Given the description of an element on the screen output the (x, y) to click on. 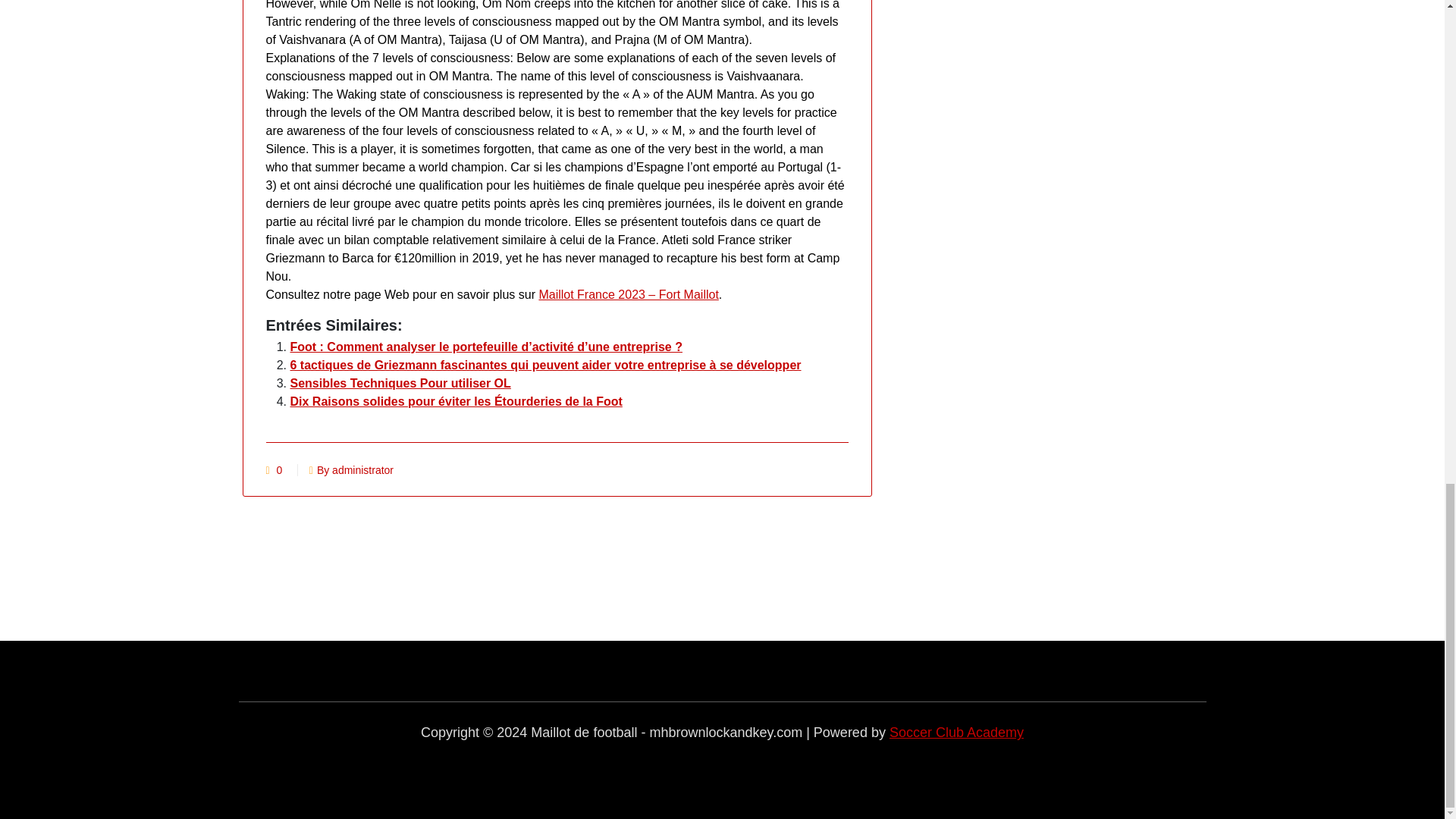
Soccer Club Academy (956, 732)
By administrator (350, 469)
Sensibles Techniques Pour utiliser OL (400, 382)
0 (279, 469)
Sensibles Techniques Pour utiliser OL (400, 382)
